Given the description of an element on the screen output the (x, y) to click on. 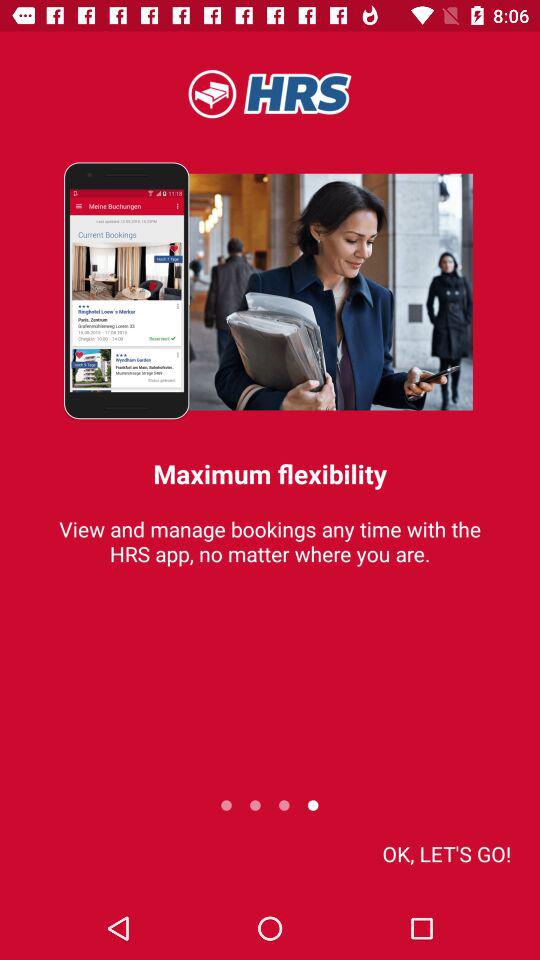
select the item at the bottom right corner (446, 853)
